Given the description of an element on the screen output the (x, y) to click on. 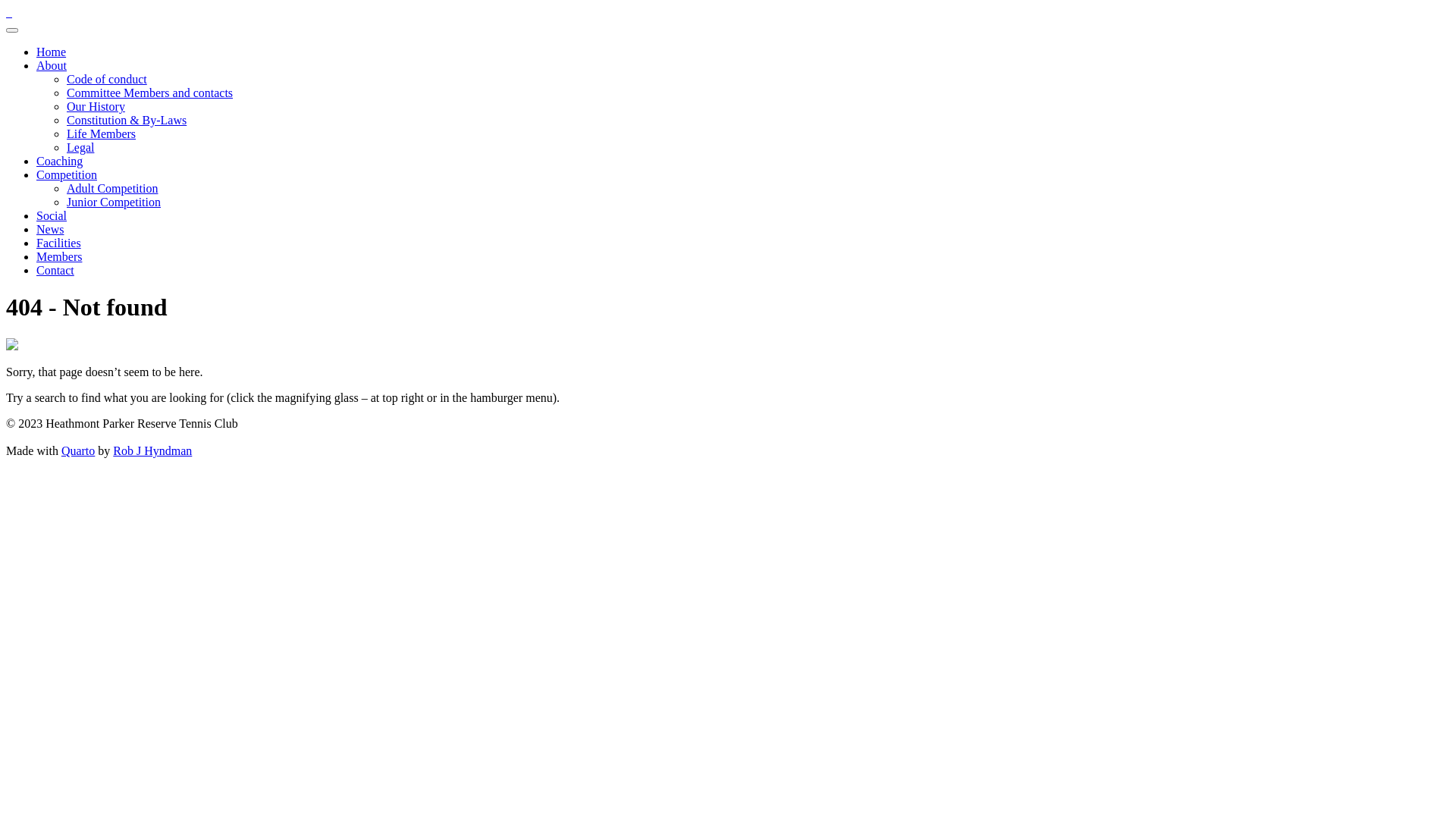
Committee Members and contacts Element type: text (149, 92)
News Element type: text (49, 228)
Junior Competition Element type: text (113, 201)
Coaching Element type: text (59, 160)
Legal Element type: text (80, 147)
Code of conduct Element type: text (106, 78)
Facilities Element type: text (58, 242)
Members Element type: text (58, 256)
Constitution & By-Laws Element type: text (126, 119)
Contact Element type: text (55, 269)
Our History Element type: text (95, 106)
Competition Element type: text (66, 174)
Home Element type: text (50, 51)
Life Members Element type: text (100, 133)
  Element type: text (10, 12)
Rob J Hyndman Element type: text (151, 450)
Social Element type: text (51, 215)
About Element type: text (51, 65)
Quarto Element type: text (77, 450)
Adult Competition Element type: text (111, 188)
